Given the description of an element on the screen output the (x, y) to click on. 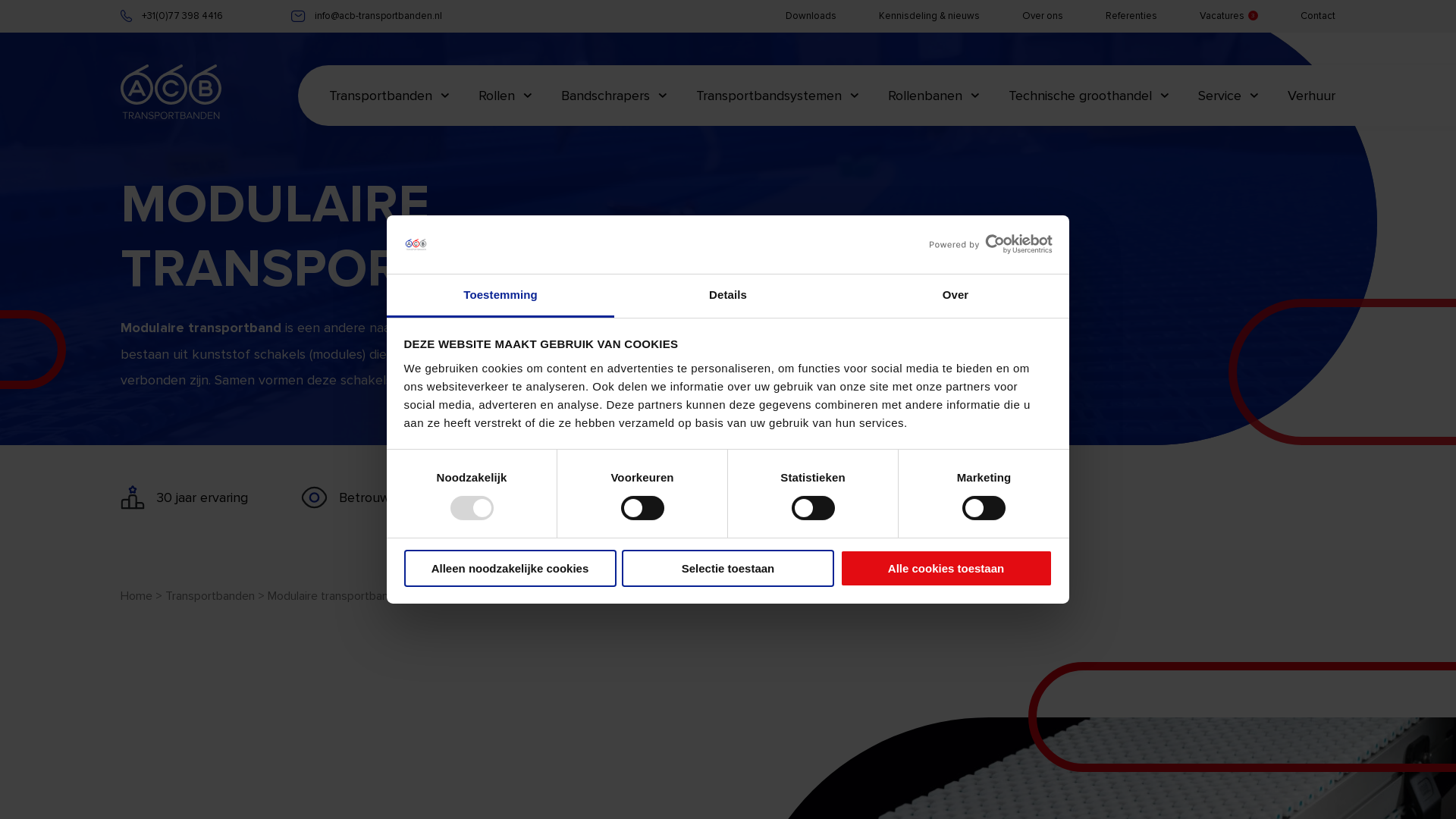
Contact Element type: text (1317, 15)
Transportbanden Element type: text (209, 595)
Details Element type: text (727, 295)
Vacatures Element type: text (1221, 15)
Alleen noodzakelijke cookies Element type: text (509, 567)
Alle cookies toestaan Element type: text (946, 567)
Technische groothandel Element type: text (1088, 95)
ACB-TRANSPORTBANDEN-LOGO-KLEUR-RGB Element type: text (170, 95)
Over ons Element type: text (1042, 15)
Toestemming Element type: text (500, 295)
Rollen Element type: text (505, 95)
Selectie toestaan Element type: text (727, 567)
Bandschrapers Element type: text (614, 95)
info@acb-transportbanden.nl Element type: text (366, 15)
Verhuur Element type: text (1311, 95)
Downloads Element type: text (810, 15)
Over Element type: text (955, 295)
Home Element type: text (136, 595)
+31(0)77 398 4416 Element type: text (171, 15)
Transportbandsystemen Element type: text (777, 95)
Service Element type: text (1228, 95)
Referenties Element type: text (1131, 15)
Kennisdeling & nieuws Element type: text (928, 15)
Transportbanden Element type: text (389, 95)
Rollenbanen Element type: text (933, 95)
